Given the description of an element on the screen output the (x, y) to click on. 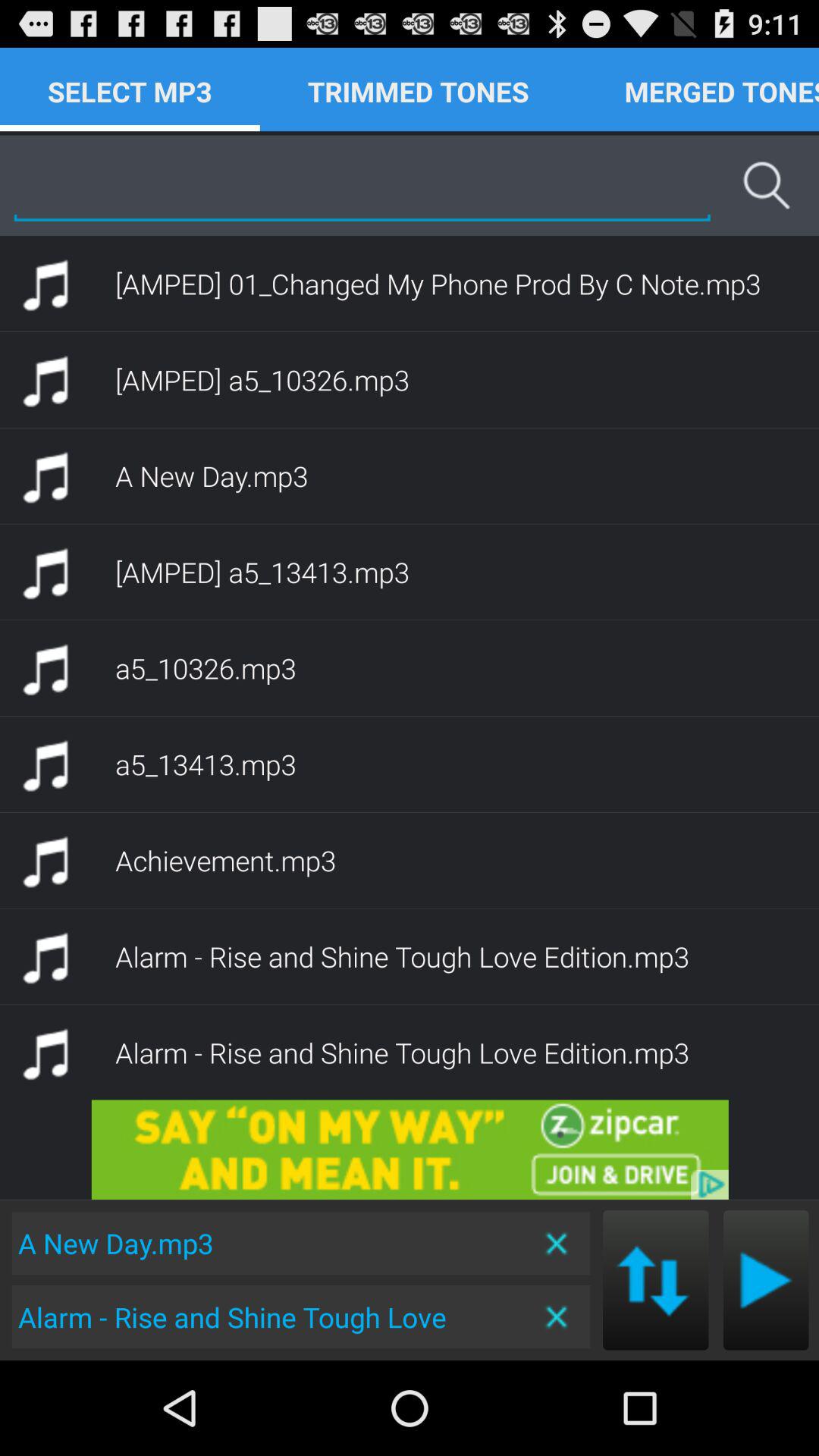
search (362, 185)
